Given the description of an element on the screen output the (x, y) to click on. 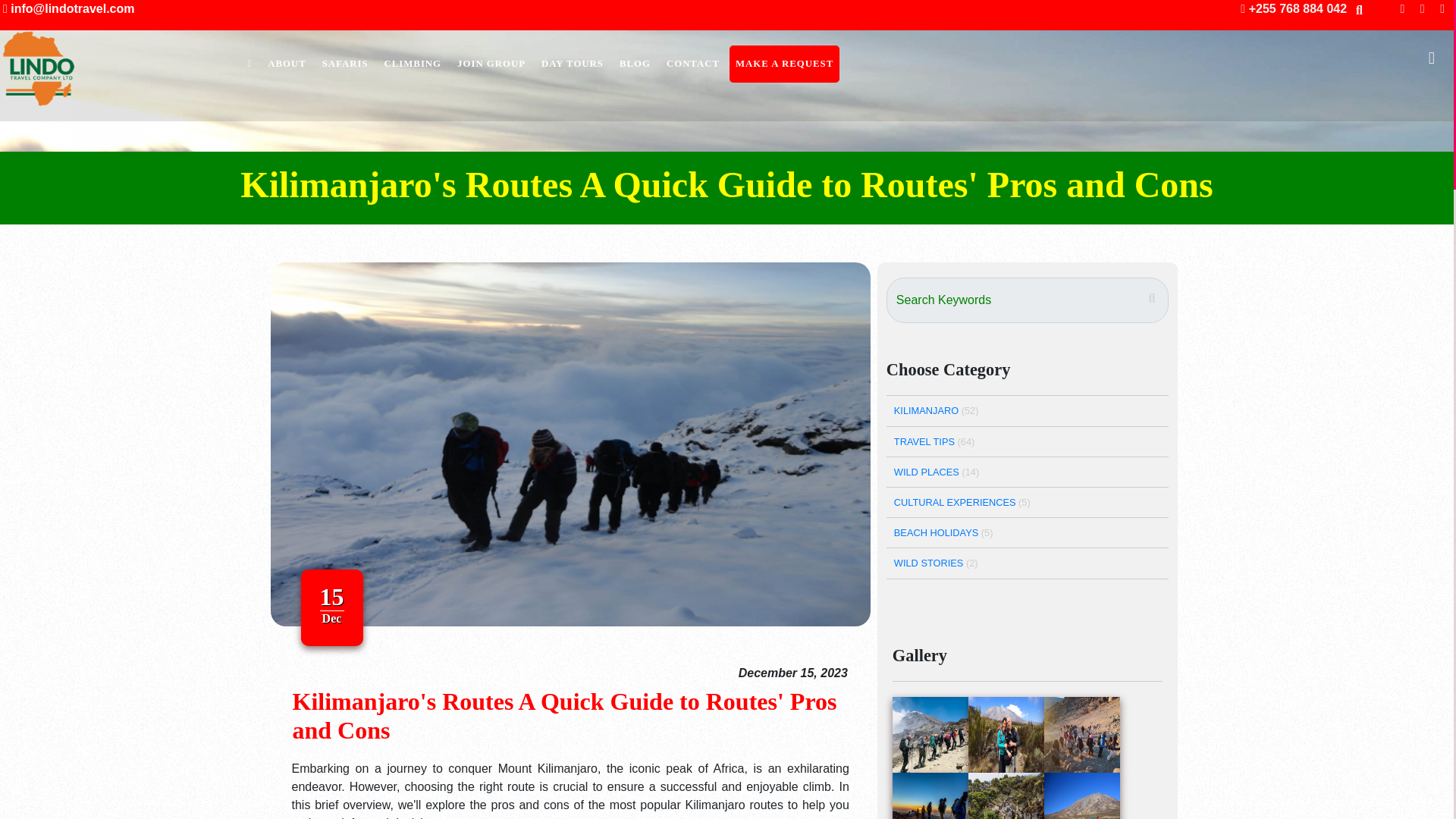
CONTACT (693, 66)
BLOG (634, 66)
SAFARIS (344, 67)
CLIMBING (413, 67)
JOIN GROUP (491, 66)
MAKE A REQUEST (784, 65)
DAY TOURS (572, 66)
ABOUT (287, 68)
